Given the description of an element on the screen output the (x, y) to click on. 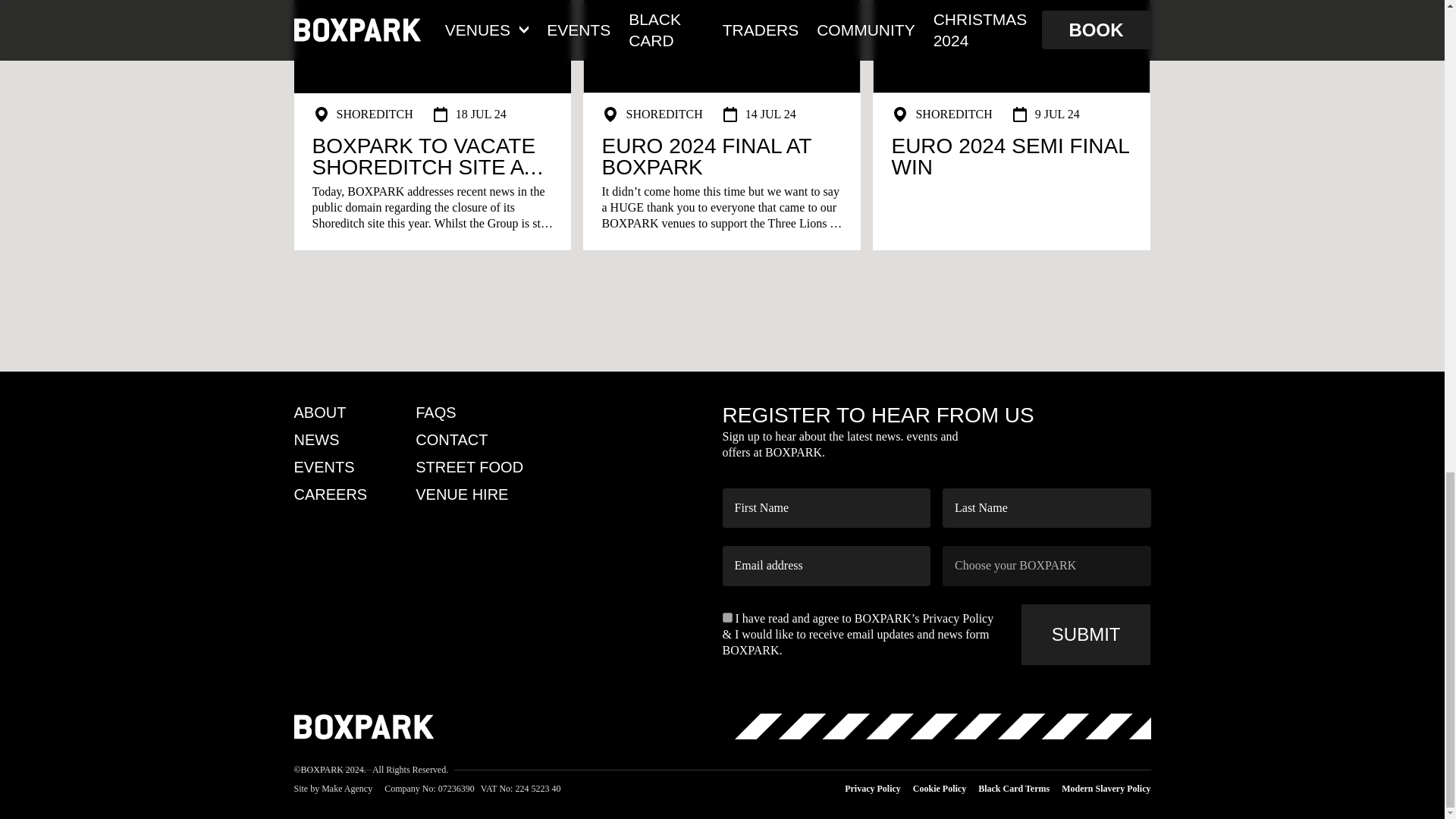
Submit (1086, 634)
1 (727, 617)
